Given the description of an element on the screen output the (x, y) to click on. 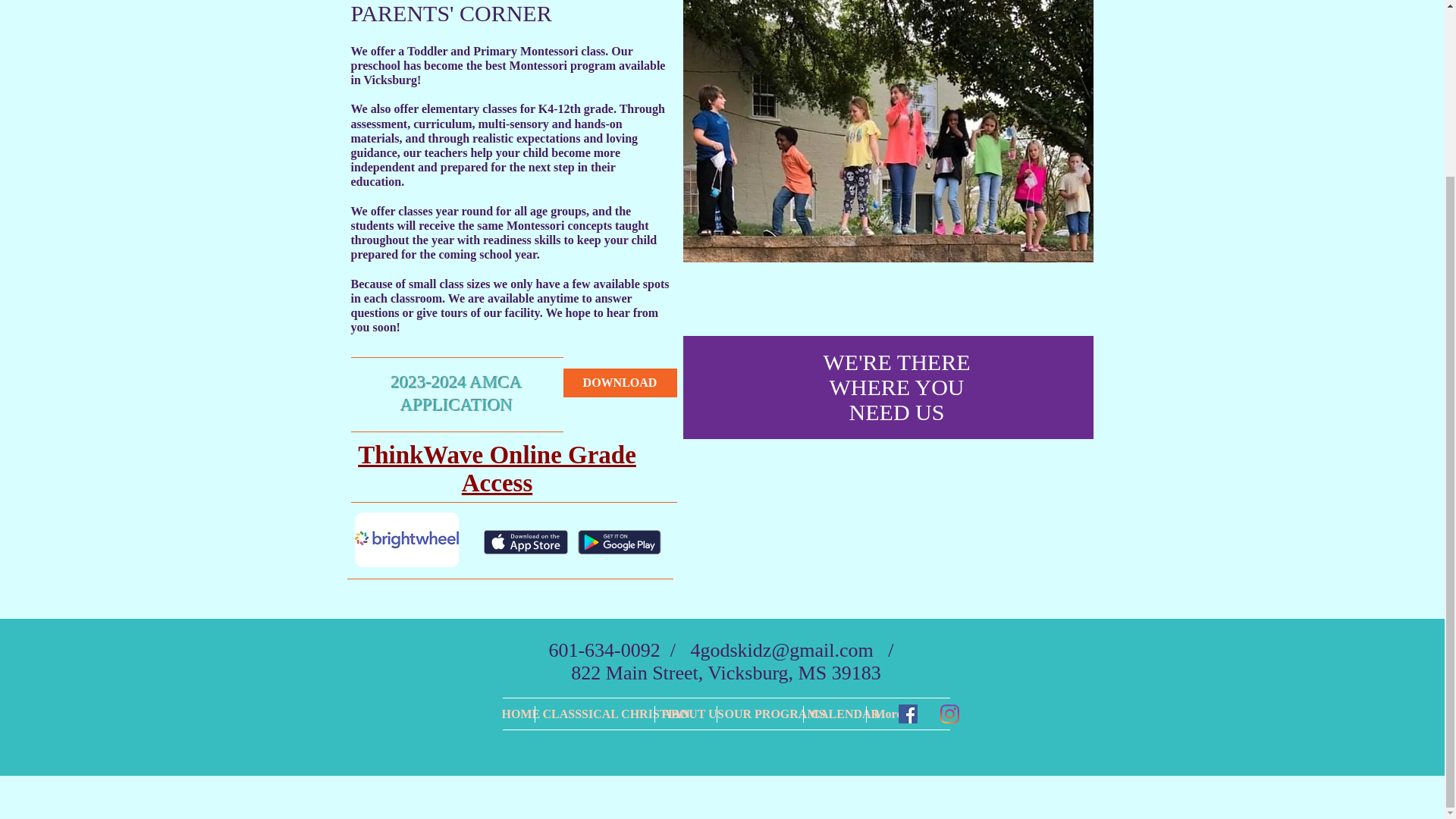
ThinkWave Online Grade Access (497, 468)
DOWNLOAD (619, 382)
ABOUT US (684, 713)
CALENDAR (833, 713)
HOME (514, 713)
CLASSSICAL CHRISTIAN (593, 713)
OUR PROGRAMS (759, 713)
